Given the description of an element on the screen output the (x, y) to click on. 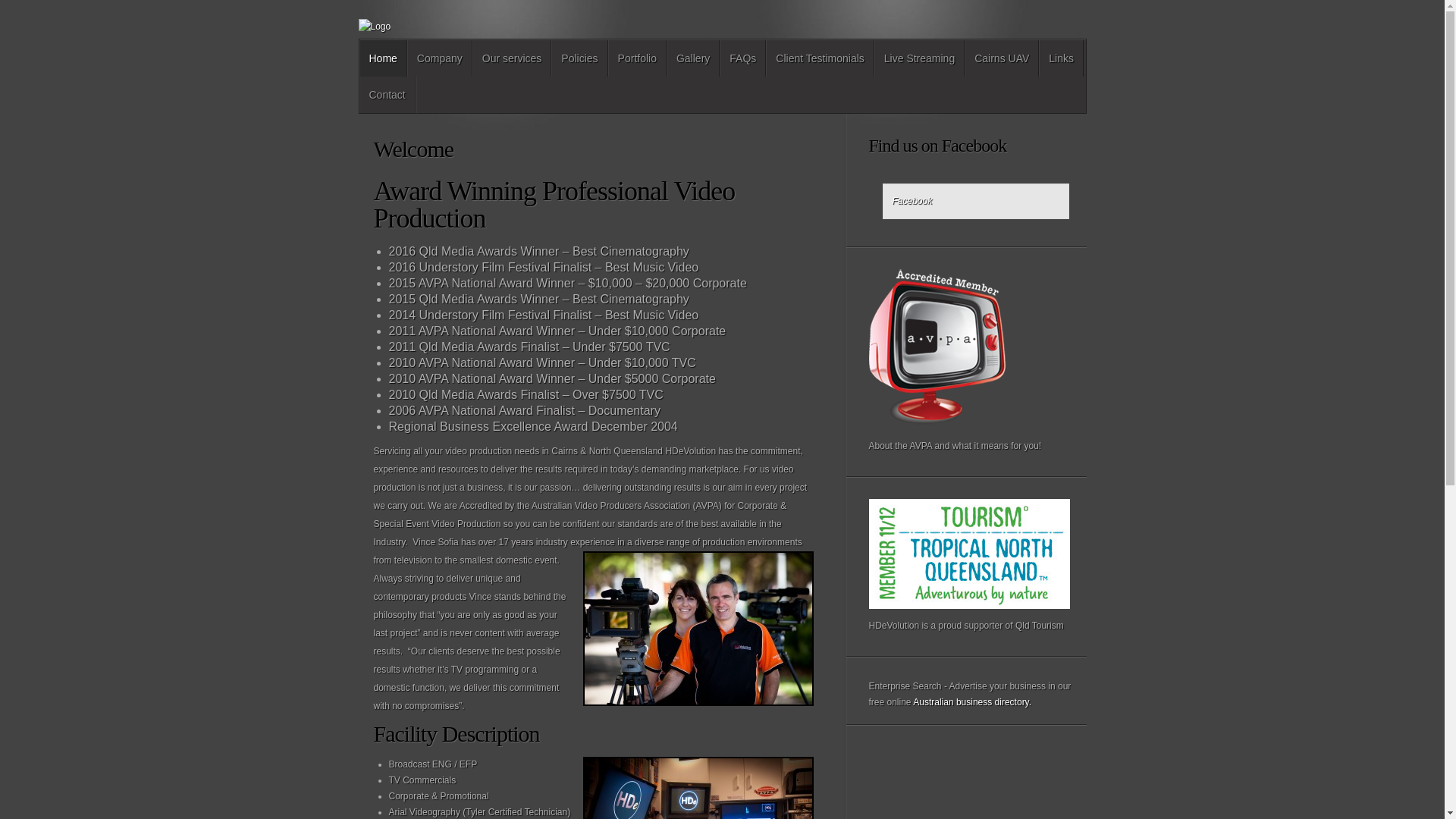
Australian business directory. Element type: text (972, 701)
Gallery Element type: text (692, 58)
Home Element type: text (382, 58)
Company Element type: text (439, 58)
Cairns UAV Element type: text (1001, 58)
cairns video producers Element type: hover (697, 628)
Welcome Element type: text (413, 148)
Portfolio Element type: text (636, 58)
Policies Element type: text (579, 58)
Client Testimonials Element type: text (819, 58)
FAQs Element type: text (742, 58)
Facebook Element type: text (911, 200)
Links Element type: text (1060, 58)
Live Streaming Element type: text (919, 58)
Contact Element type: text (386, 94)
Our services Element type: text (512, 58)
